Given the description of an element on the screen output the (x, y) to click on. 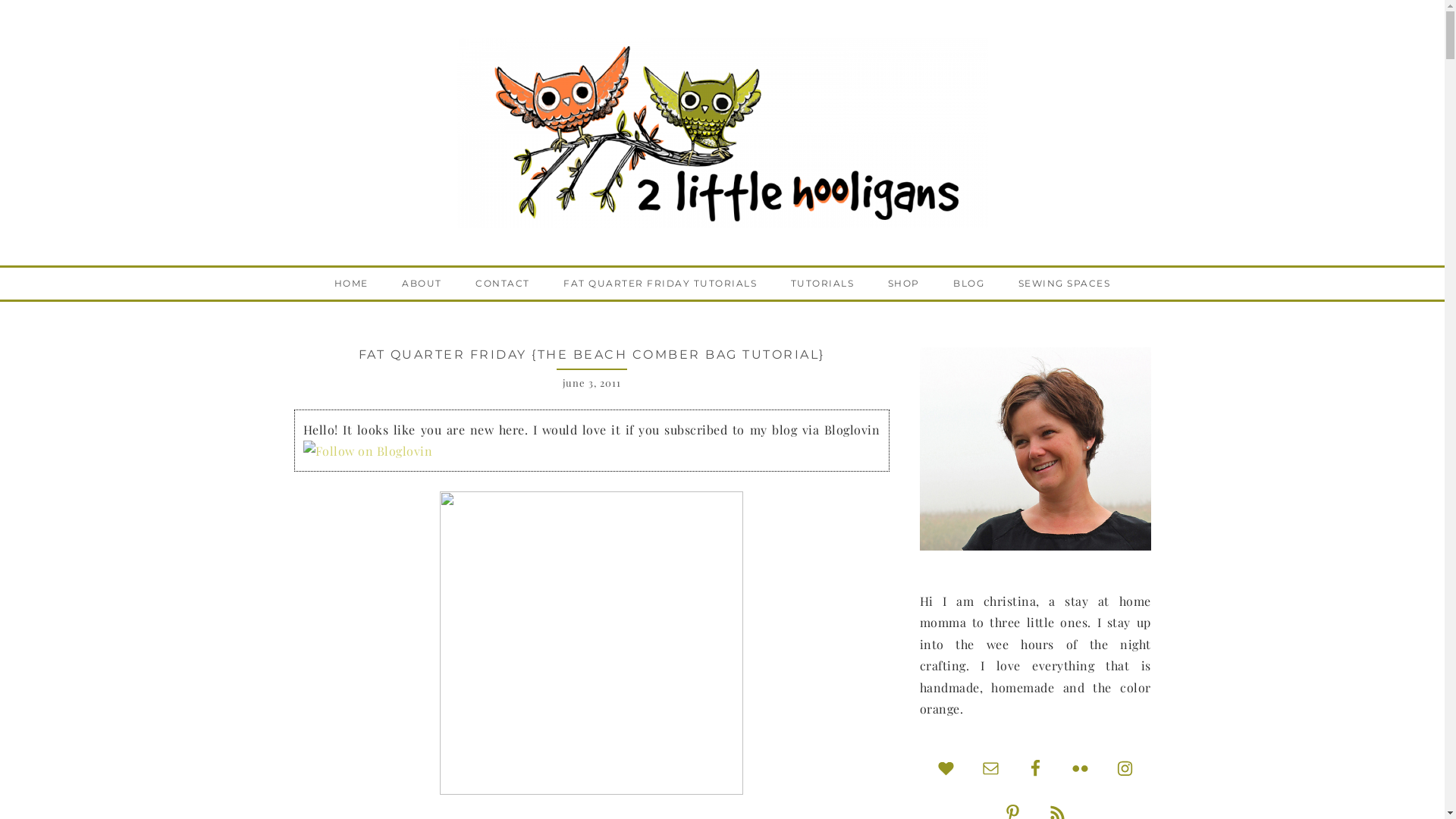
FAT QUARTER FRIDAY TUTORIALS Element type: text (659, 283)
ABOUT Element type: text (421, 283)
SEWING SPACES Element type: text (1064, 283)
CONTACT Element type: text (502, 283)
SHOP Element type: text (903, 283)
BLOG Element type: text (968, 283)
2 LITTLE HOOLIGANS Element type: text (721, 132)
Follow 2 Little Hooligans on Bloglovin Element type: hover (368, 450)
HOME Element type: text (351, 283)
TUTORIALS Element type: text (822, 283)
